Given the description of an element on the screen output the (x, y) to click on. 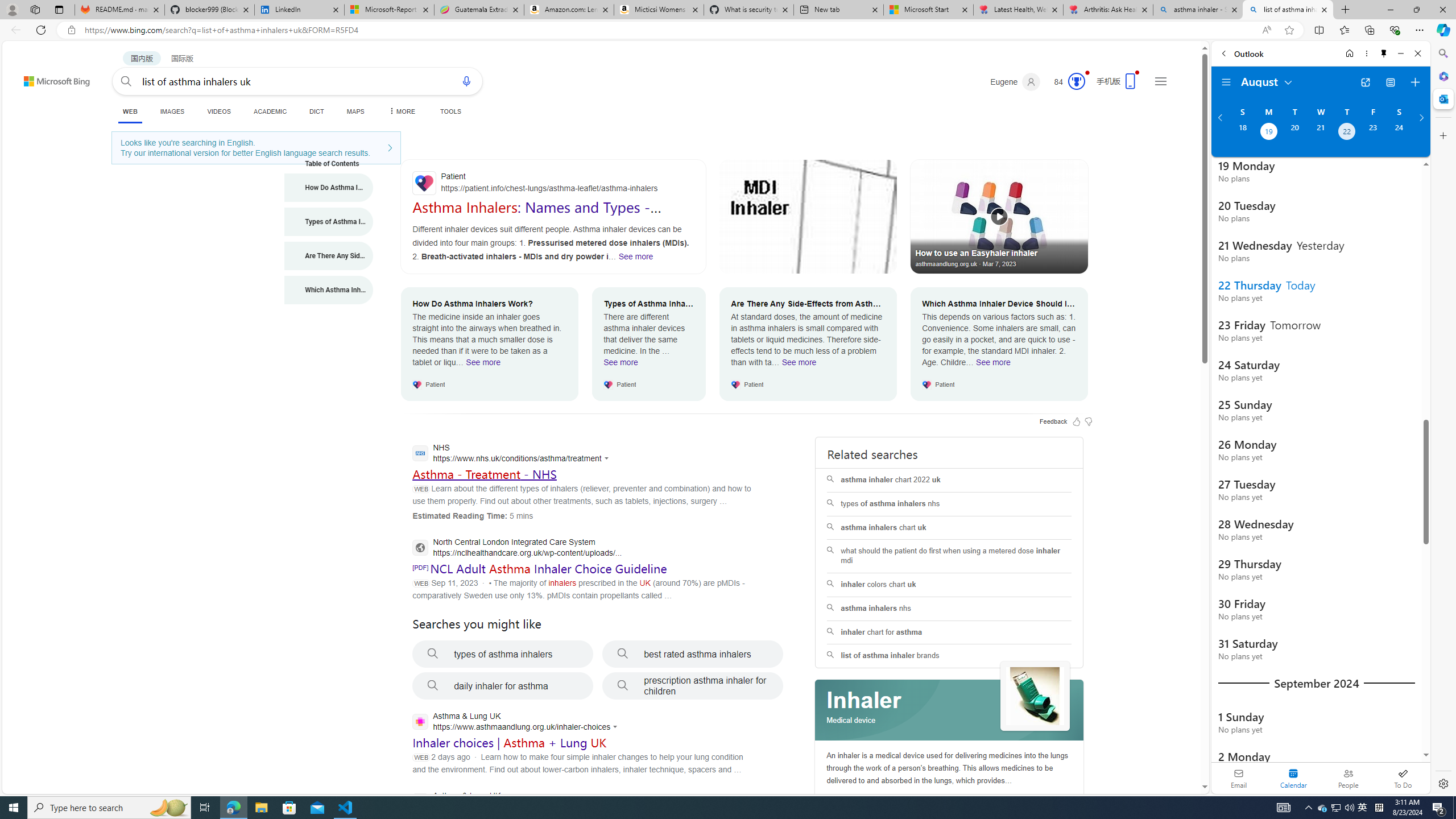
Are There Any Side-Effects from Asthma Inhalers? (328, 255)
Folder navigation (1225, 82)
Wednesday, August 21, 2024.  (1320, 132)
MORE (400, 111)
best rated asthma inhalers (692, 653)
See more images of Inhaler (1035, 697)
